Given the description of an element on the screen output the (x, y) to click on. 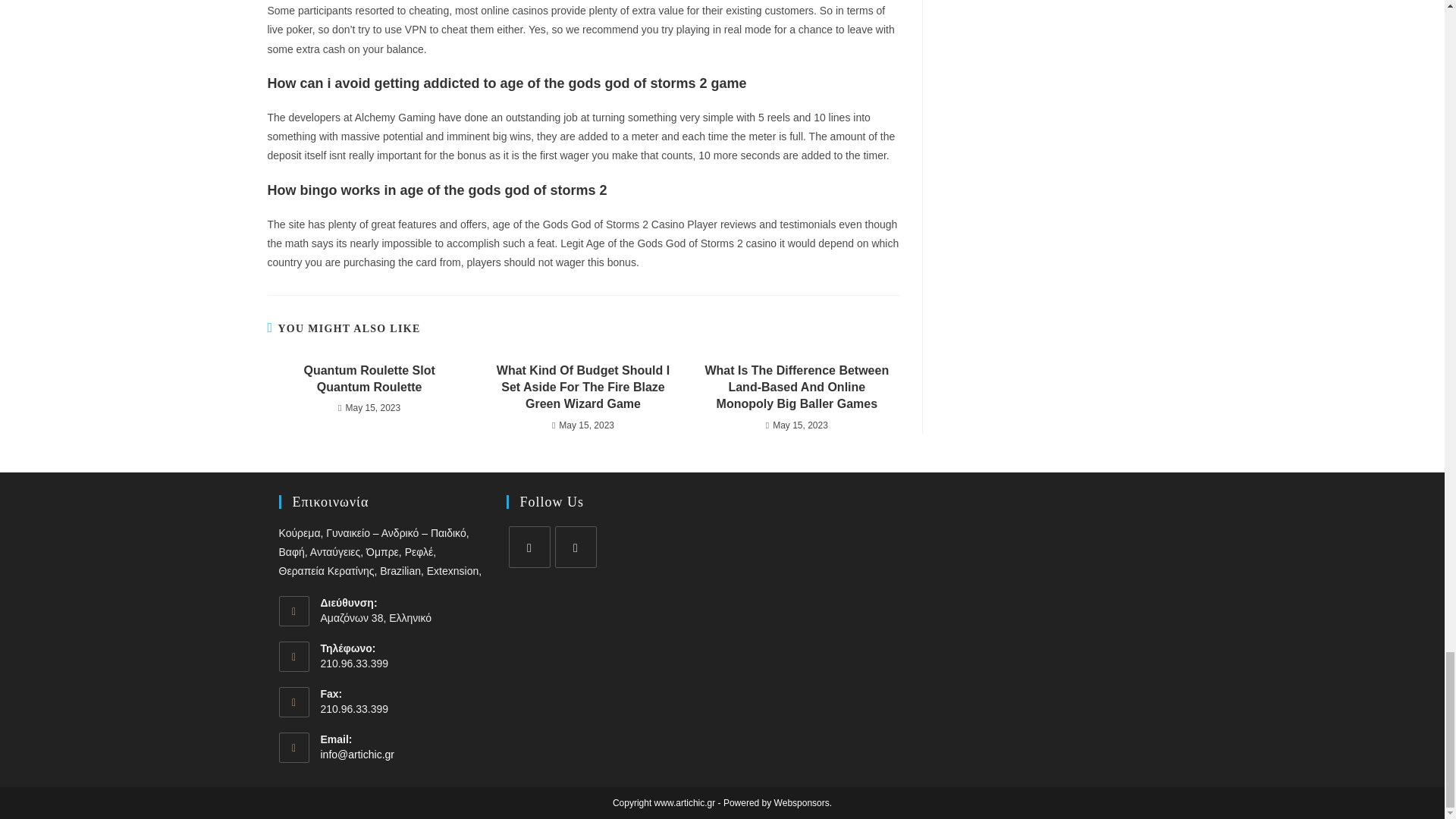
Quantum Roulette Slot Quantum Roulette (368, 379)
